Given the description of an element on the screen output the (x, y) to click on. 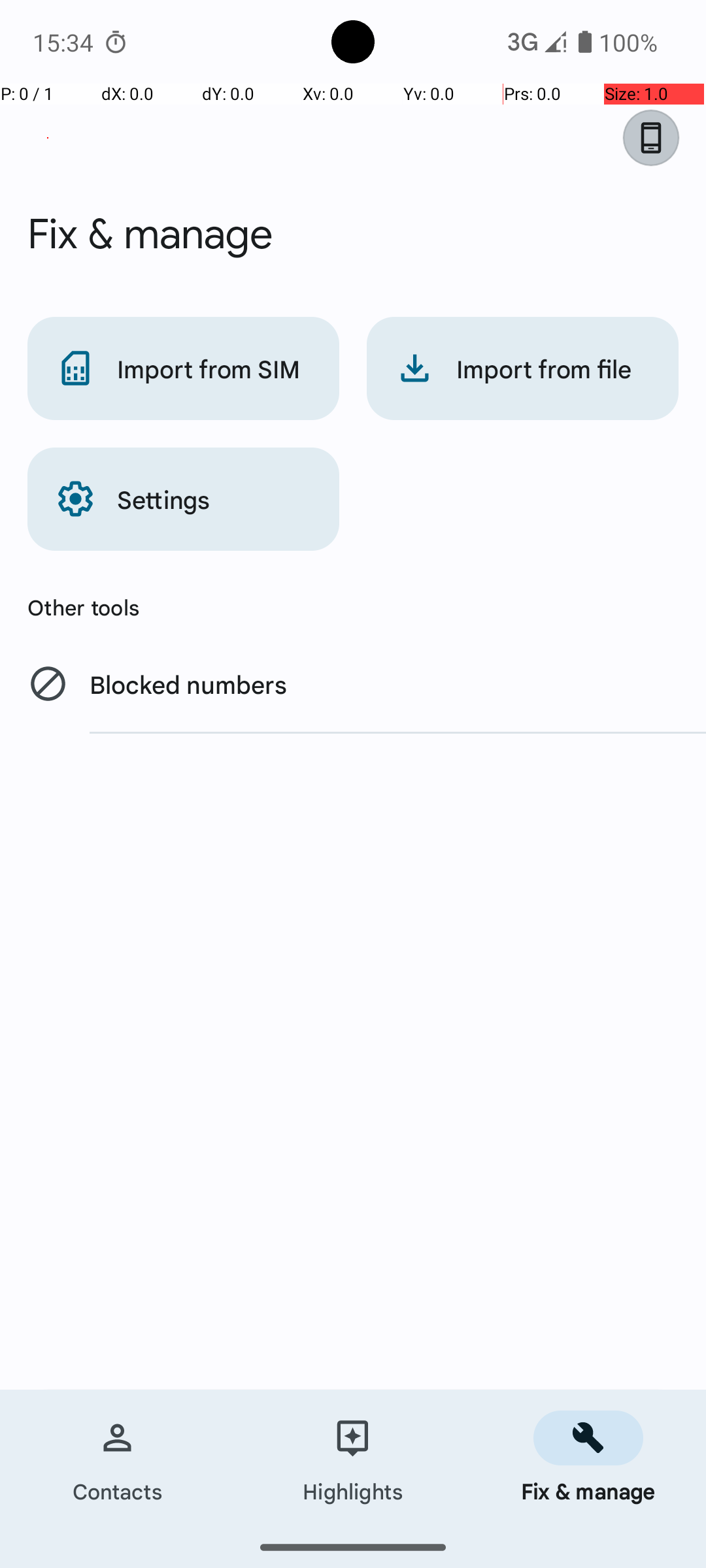
Other tools Element type: android.widget.TextView (353, 606)
Import from SIM Element type: android.widget.TextView (183, 368)
Import from file Element type: android.widget.TextView (522, 368)
Blocked numbers Element type: android.widget.TextView (353, 683)
